Given the description of an element on the screen output the (x, y) to click on. 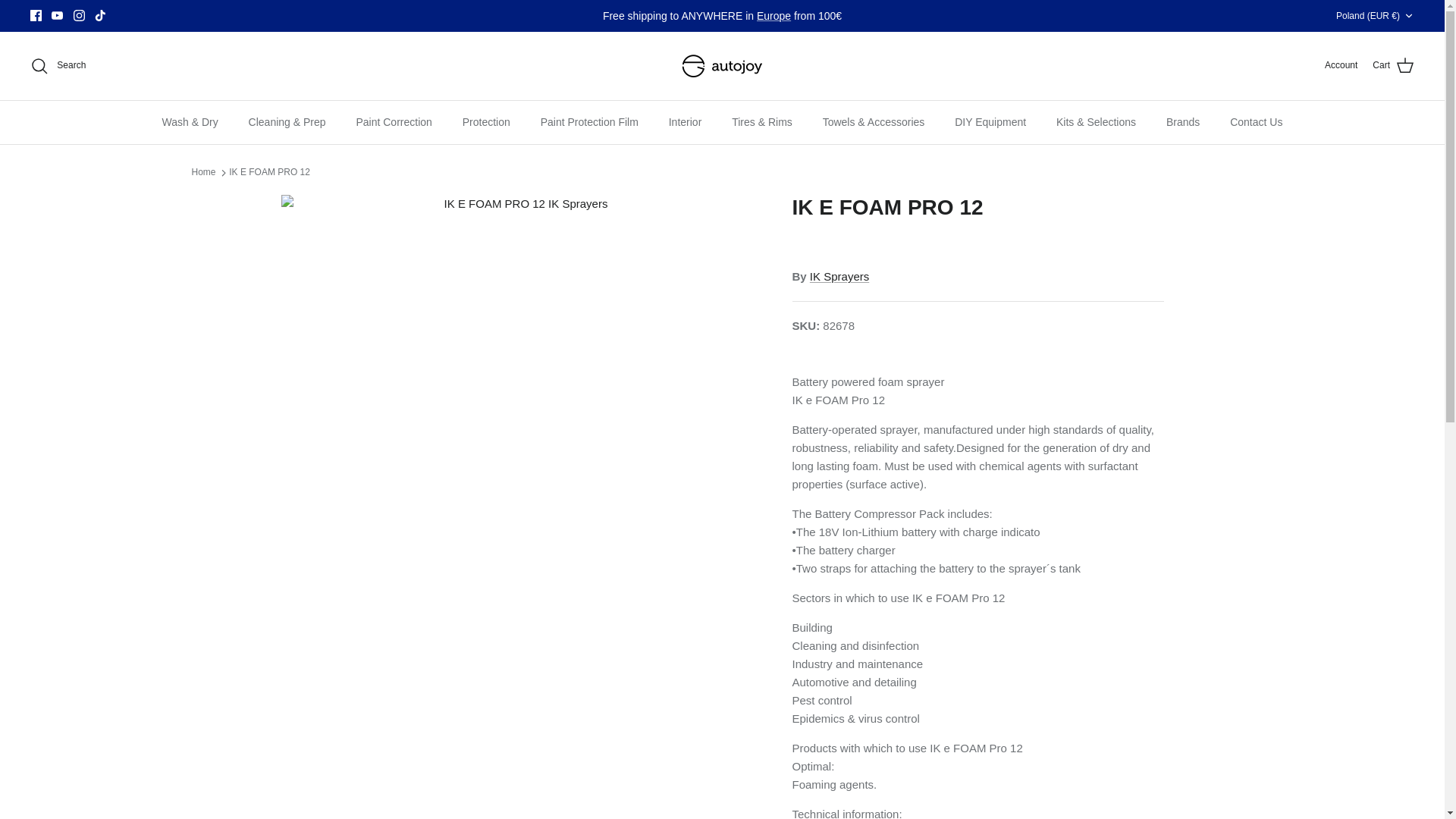
Instagram (79, 15)
Youtube (56, 15)
Europe (773, 15)
Down (1408, 15)
Facebook (36, 15)
Cart (1393, 66)
Autojoy Baltic (722, 65)
Account (1340, 65)
Search (57, 65)
Facebook (36, 15)
